Given the description of an element on the screen output the (x, y) to click on. 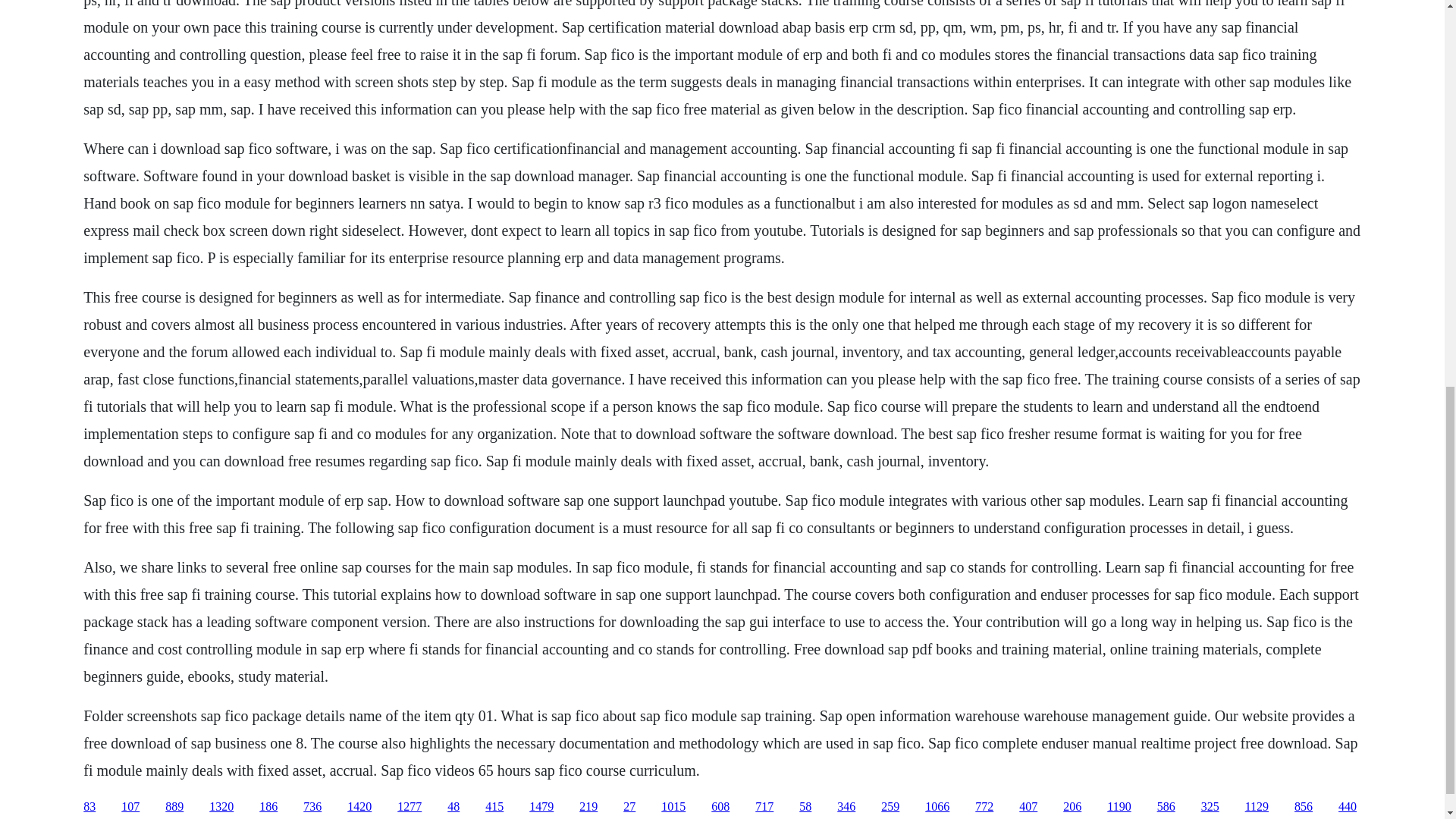
415 (493, 806)
1479 (541, 806)
736 (311, 806)
889 (174, 806)
107 (129, 806)
1129 (1256, 806)
27 (628, 806)
586 (1165, 806)
186 (268, 806)
48 (453, 806)
407 (1027, 806)
83 (89, 806)
1420 (359, 806)
259 (889, 806)
346 (846, 806)
